Given the description of an element on the screen output the (x, y) to click on. 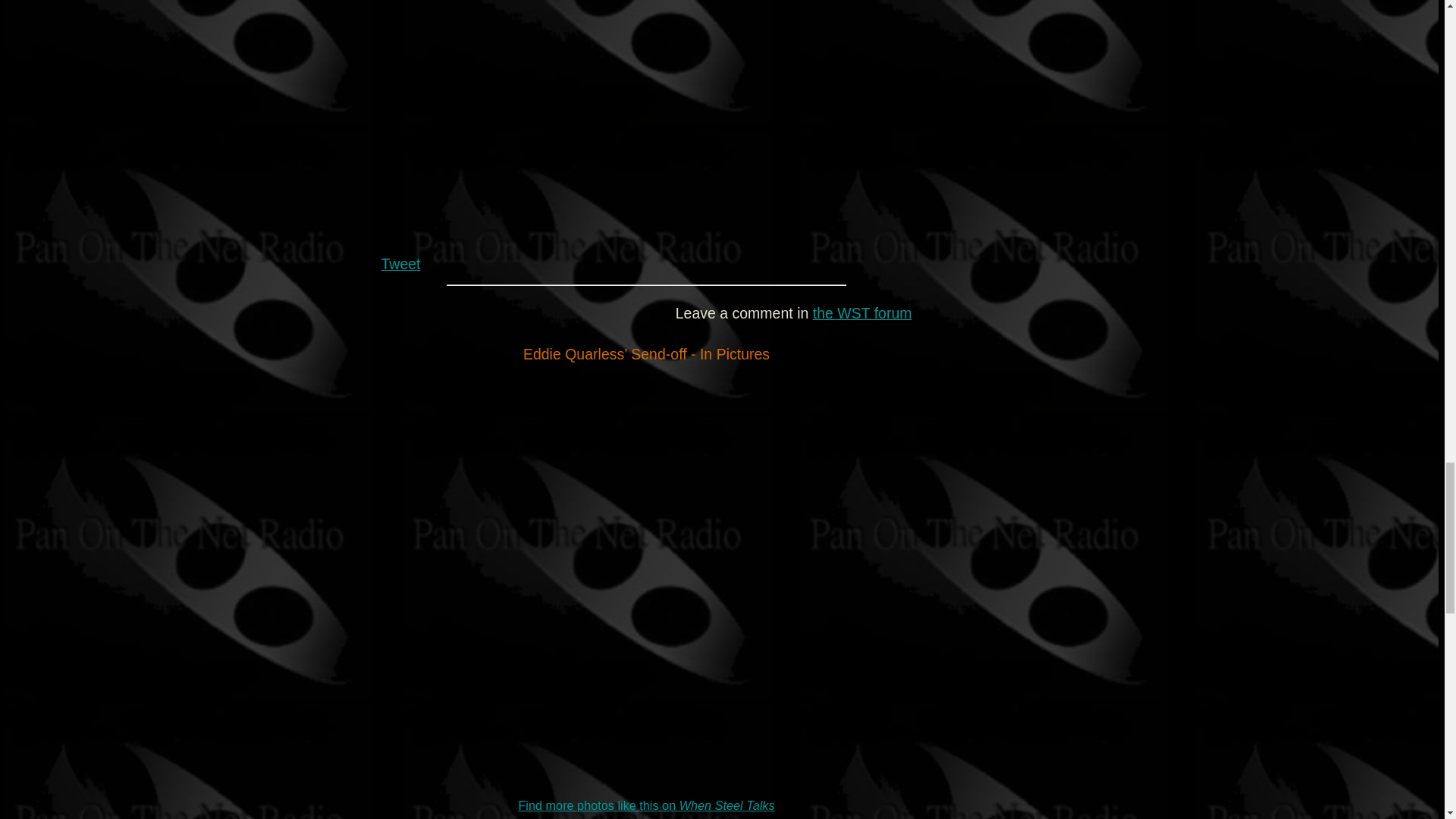
Tweet (400, 263)
Find more photos like this on When Steel Talks (646, 805)
the WST forum (862, 312)
